Given the description of an element on the screen output the (x, y) to click on. 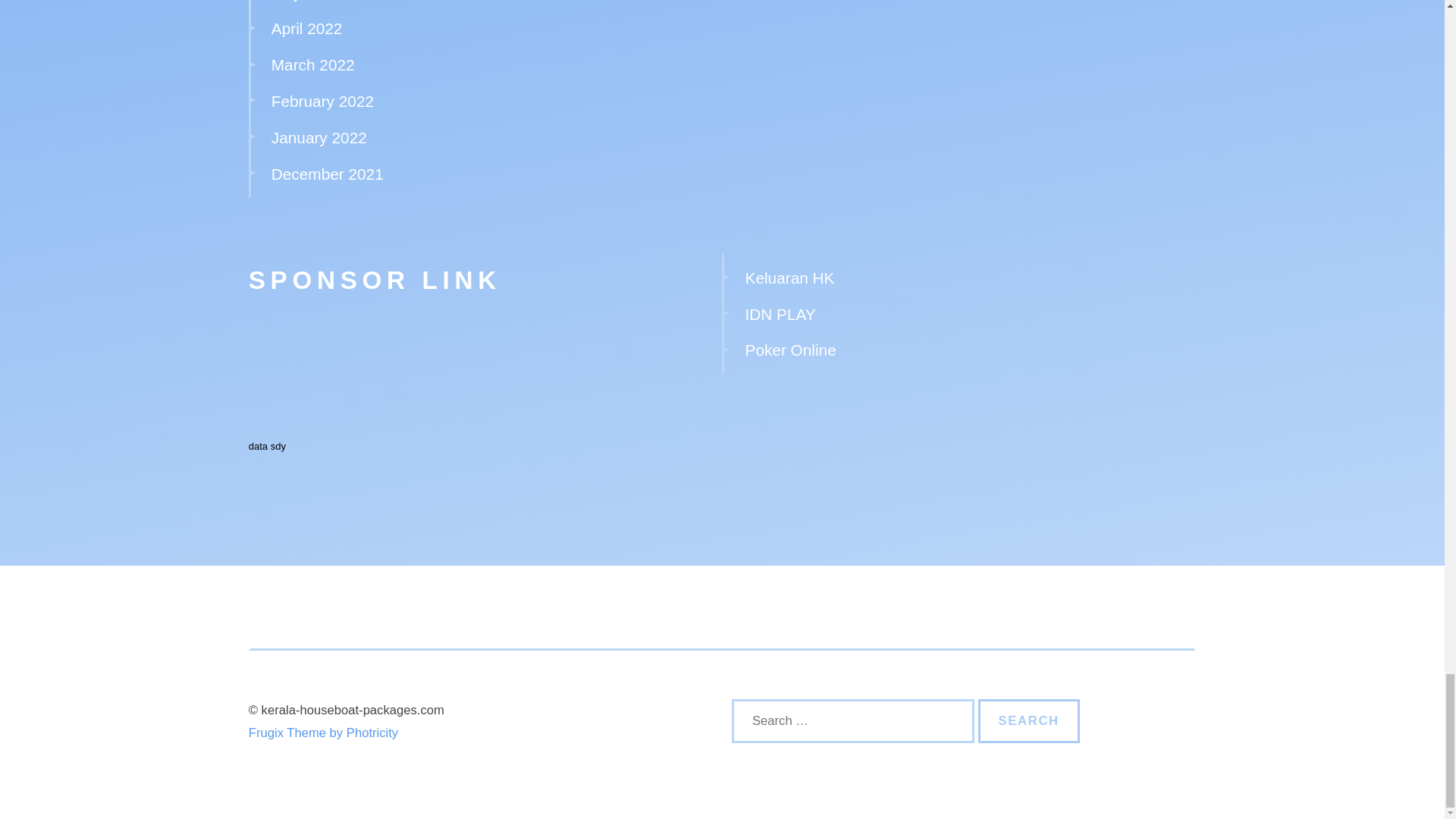
March 2022 (312, 64)
Search (1029, 720)
April 2022 (306, 27)
May 2022 (305, 0)
Search (1029, 720)
